Given the description of an element on the screen output the (x, y) to click on. 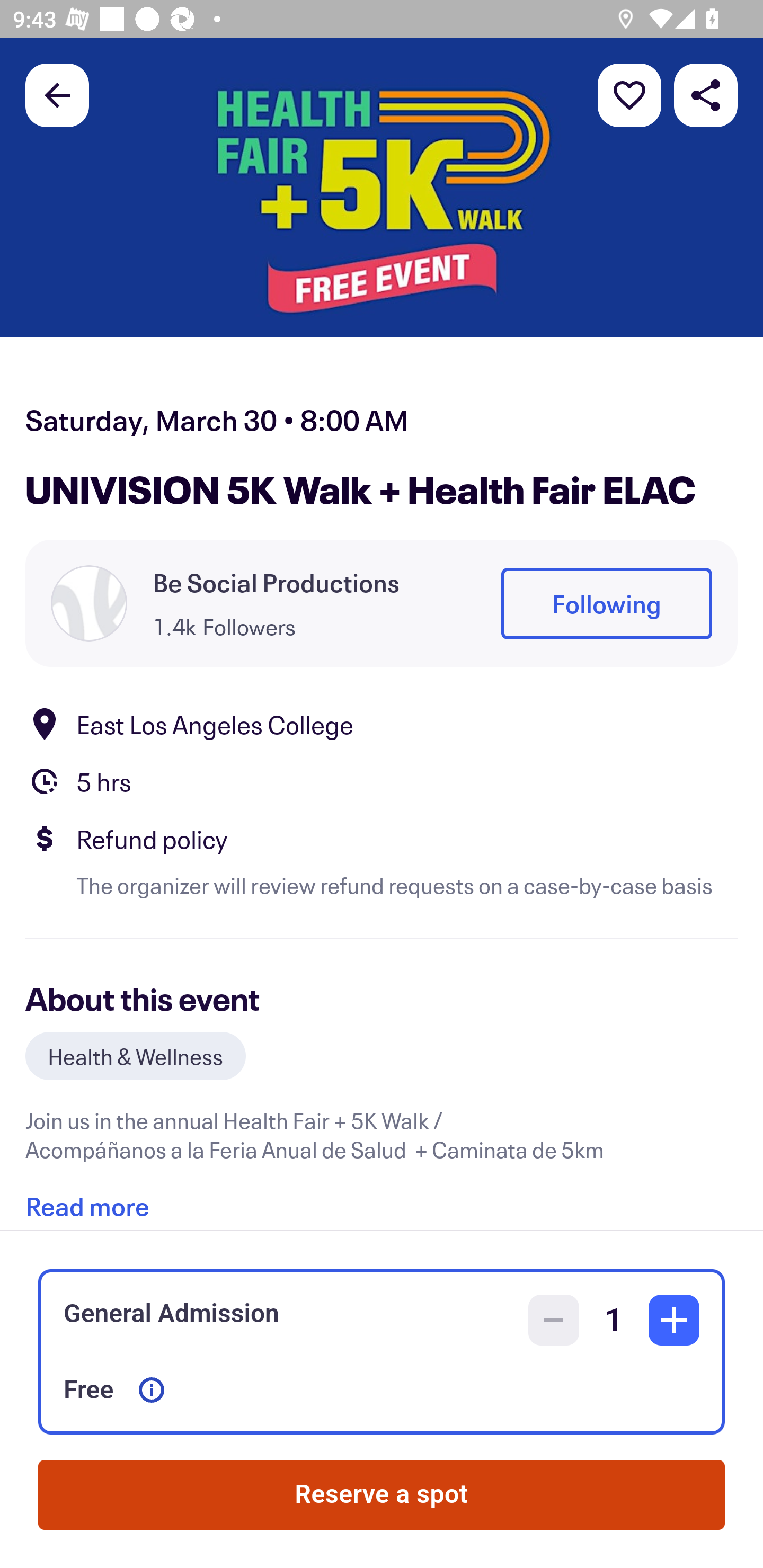
Back (57, 94)
More (629, 94)
Share (705, 94)
Be Social Productions (275, 582)
Organizer profile picture (89, 602)
Following (606, 603)
Location East Los Angeles College (381, 724)
Read more (87, 1199)
Decrease (553, 1320)
Increase (673, 1320)
Show more information (151, 1389)
Reserve a spot (381, 1494)
